Given the description of an element on the screen output the (x, y) to click on. 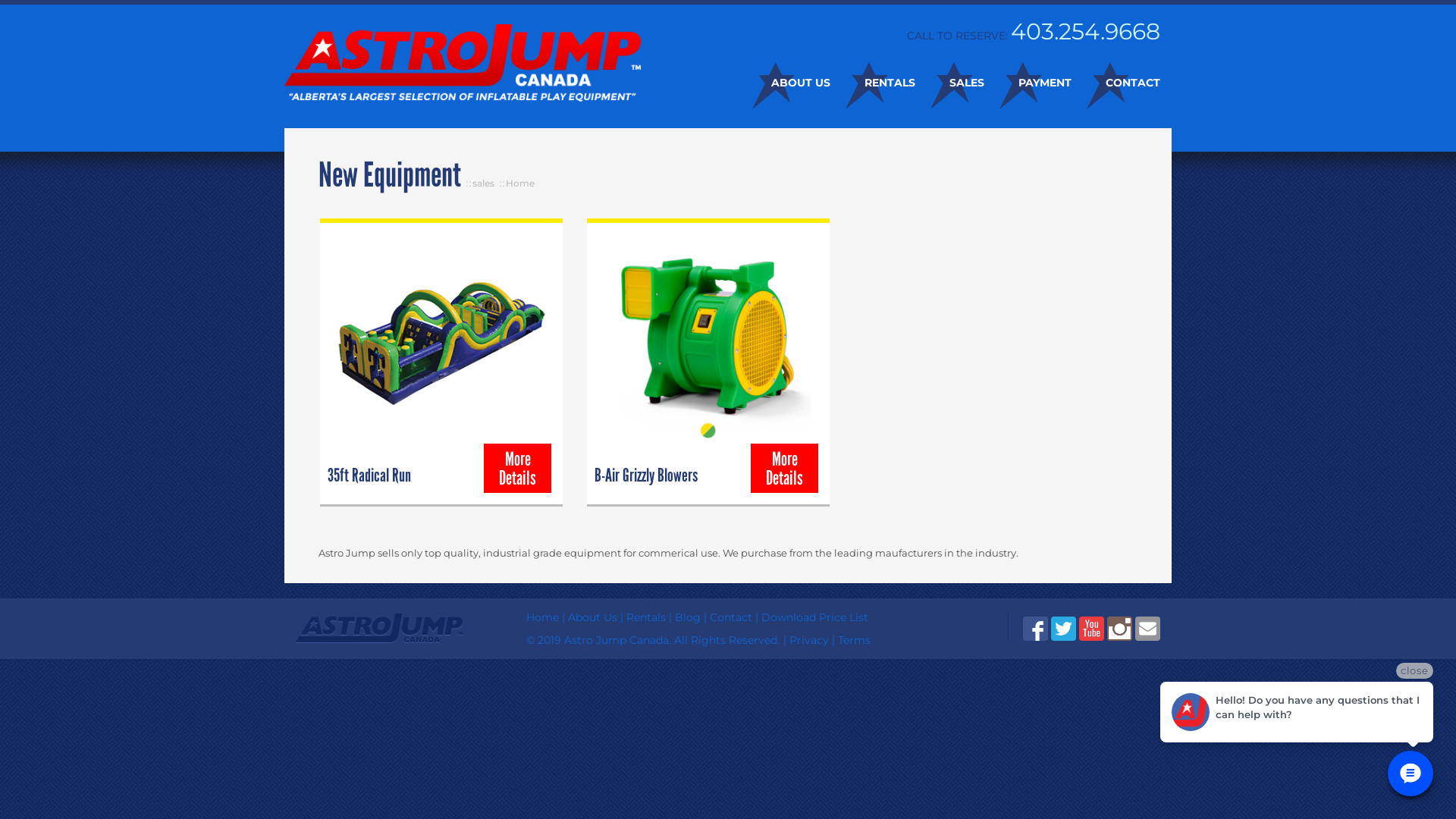
Home Element type: text (519, 182)
Contact Element type: text (730, 617)
Privacy Element type: text (808, 639)
Home Element type: text (542, 617)
Rentals Element type: text (645, 617)
About Us Element type: text (592, 617)
Download Price List Element type: text (814, 617)
35ft Radical Run
More
Details Element type: text (441, 362)
Terms Element type: text (853, 639)
CONTACT Element type: text (1115, 82)
Blog Element type: text (687, 617)
sales Element type: text (483, 182)
B-Air Grizzly Blowers
More
Details Element type: text (707, 362)
ABOUT US Element type: text (783, 82)
PAYMENT Element type: text (1027, 82)
SALES Element type: text (949, 82)
RENTALS Element type: text (872, 82)
